Given the description of an element on the screen output the (x, y) to click on. 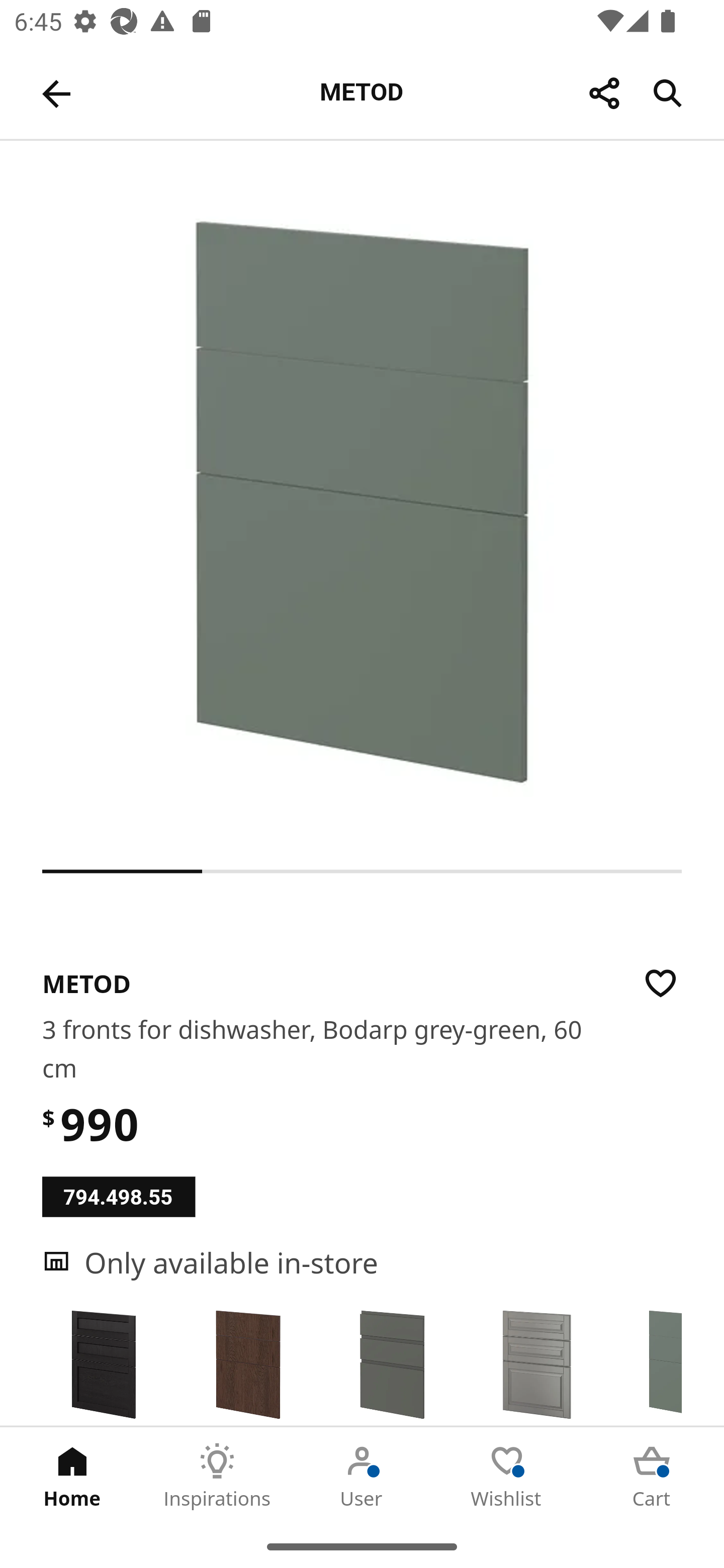
Home
Tab 1 of 5 (72, 1476)
Inspirations
Tab 2 of 5 (216, 1476)
User
Tab 3 of 5 (361, 1476)
Wishlist
Tab 4 of 5 (506, 1476)
Cart
Tab 5 of 5 (651, 1476)
